Given the description of an element on the screen output the (x, y) to click on. 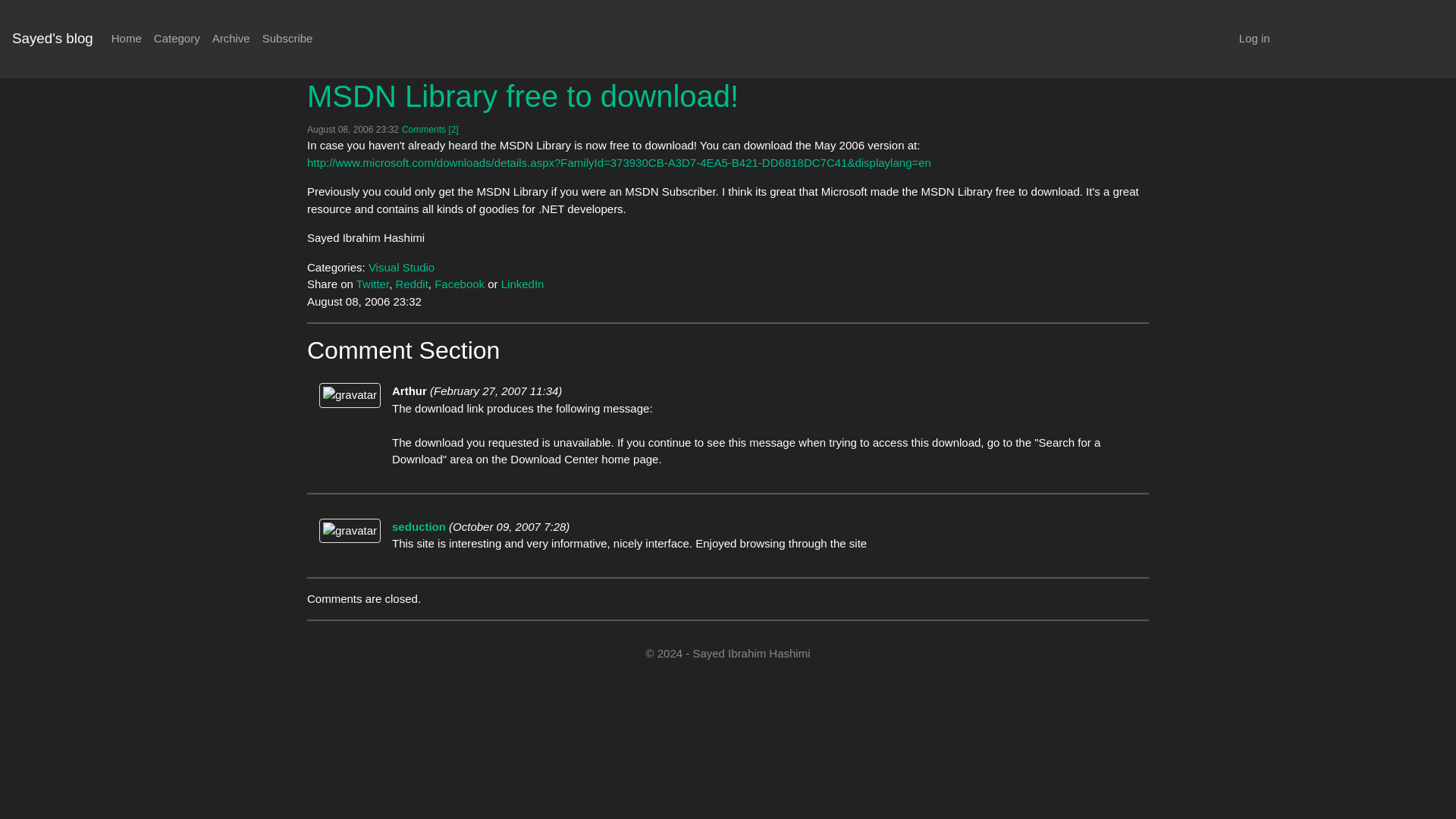
Sayed's blog (52, 39)
LinkedIn (522, 283)
Log in (1254, 39)
Subscribe (287, 39)
Facebook (458, 283)
MSDN Library free to download! (522, 95)
Category (177, 39)
Reddit (411, 283)
Home (126, 39)
Archive (231, 39)
Visual Studio (400, 267)
seduction (418, 526)
Twitter (372, 283)
